Given the description of an element on the screen output the (x, y) to click on. 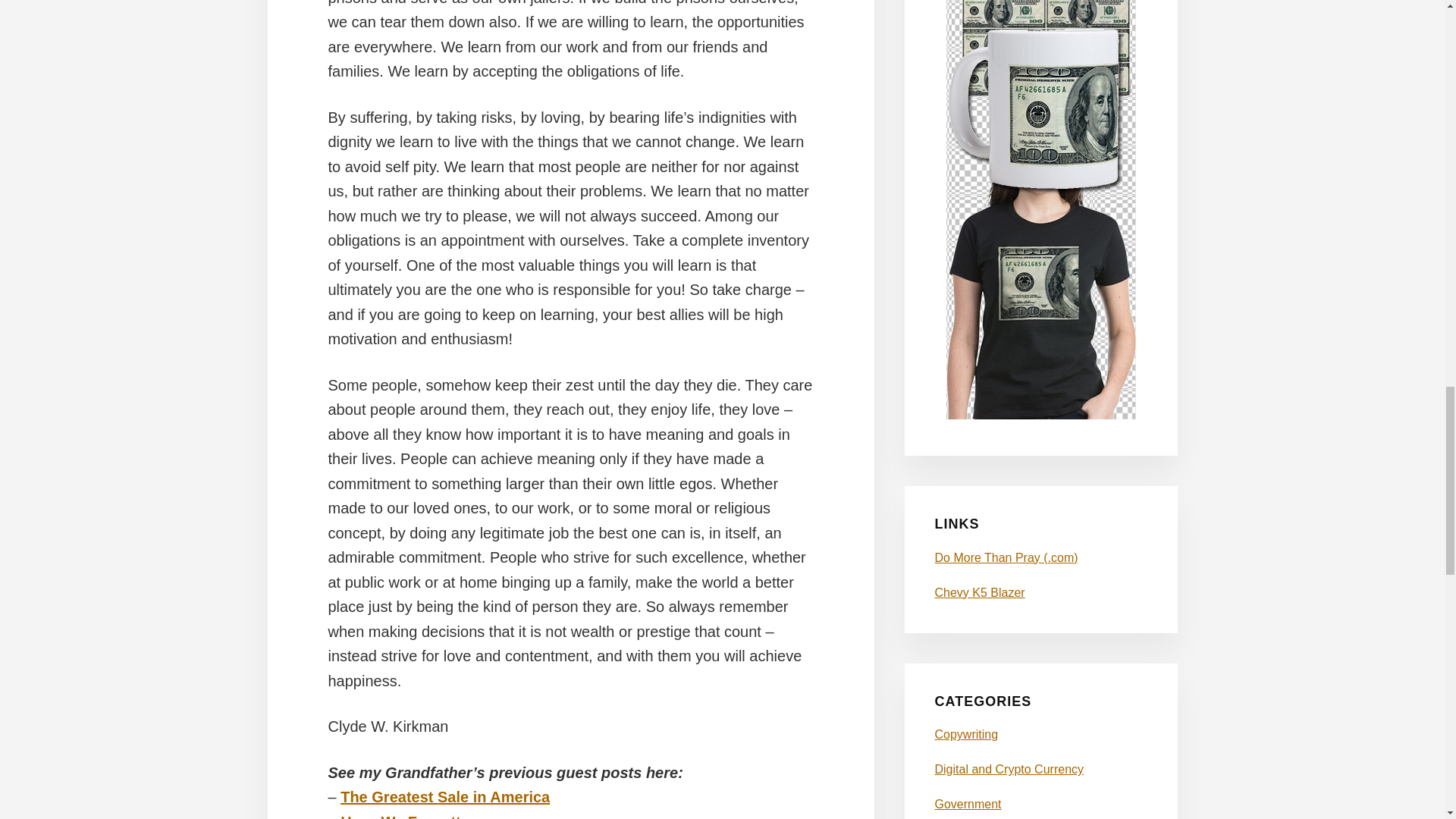
PhaseQuest 100 Dollar Bill Products (1040, 414)
The Greatest Sale in America (445, 796)
Chevy K5 Blazer (979, 592)
Copywriting (965, 734)
Have We Forgotton (409, 816)
